Given the description of an element on the screen output the (x, y) to click on. 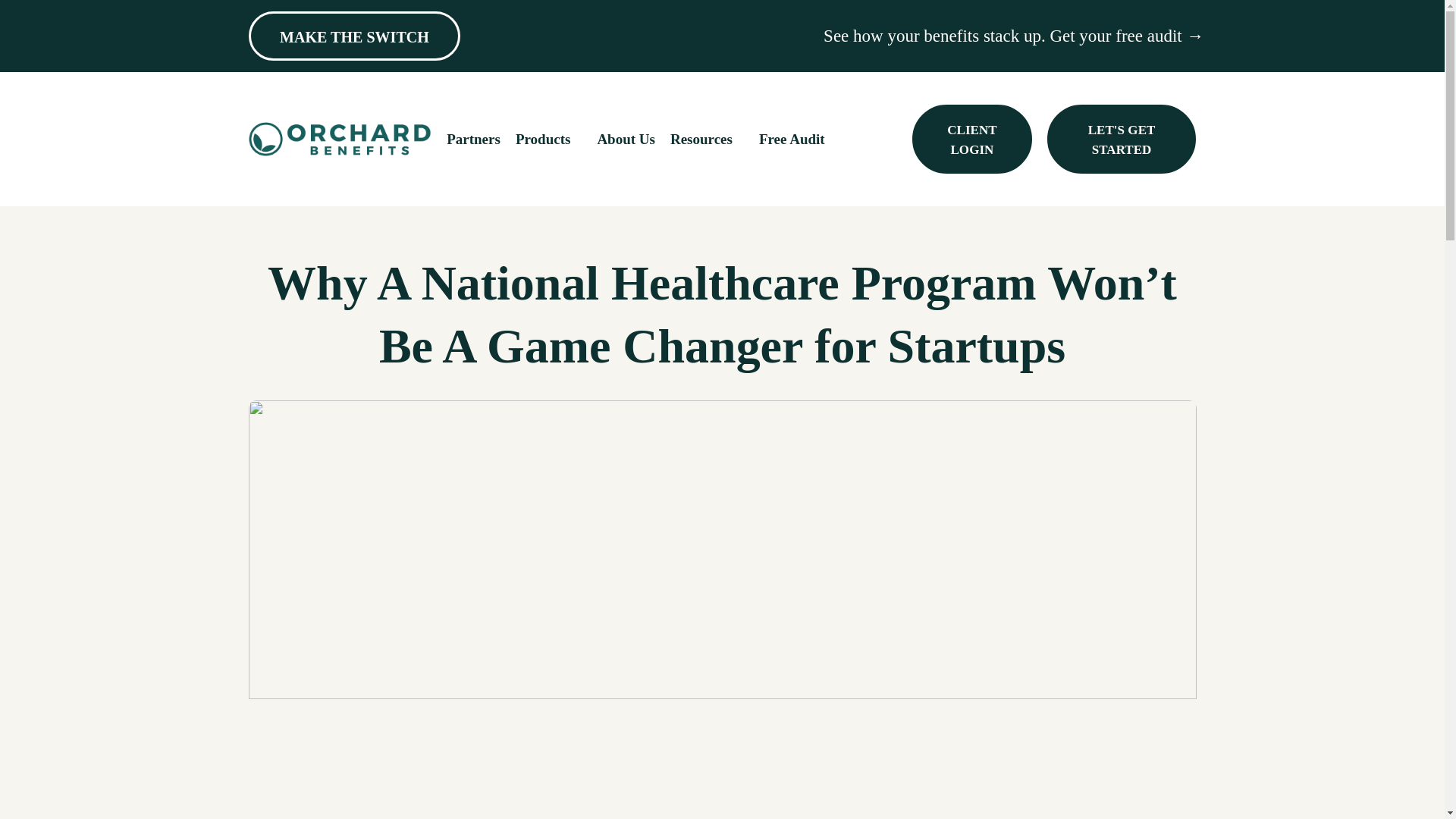
MAKE THE SWITCH (354, 35)
Resources (706, 138)
About Us (625, 138)
Free Audit (791, 138)
Partners (473, 138)
Products (548, 138)
